Given the description of an element on the screen output the (x, y) to click on. 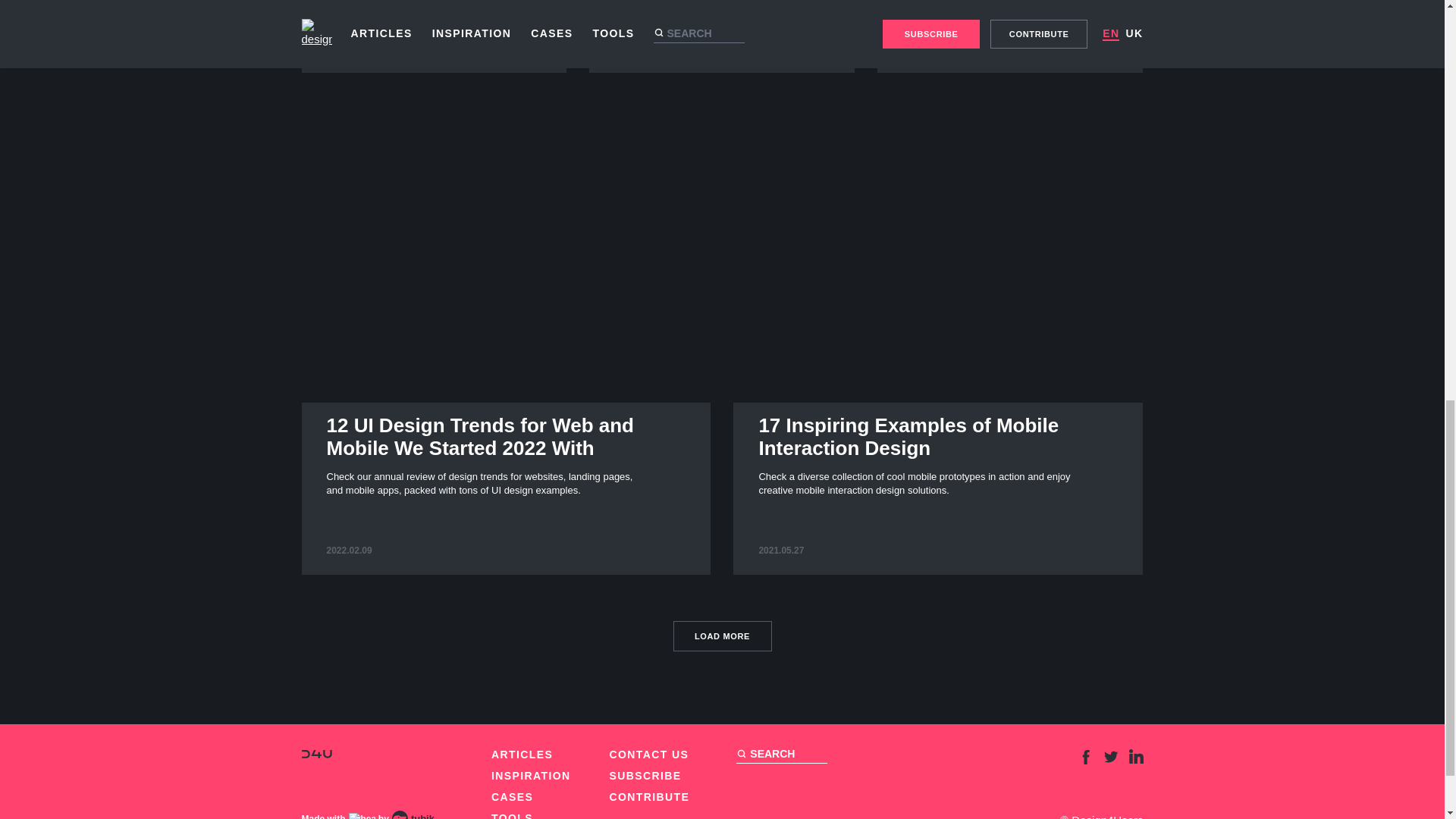
CONTRIBUTE (650, 797)
Contribute (650, 797)
CASES (721, 635)
Design4Users (1009, 36)
Case Study: Identity and Web Design for Niche Blankets Brand (512, 797)
CONTACT US (316, 754)
INSPIRATION (721, 36)
